Given the description of an element on the screen output the (x, y) to click on. 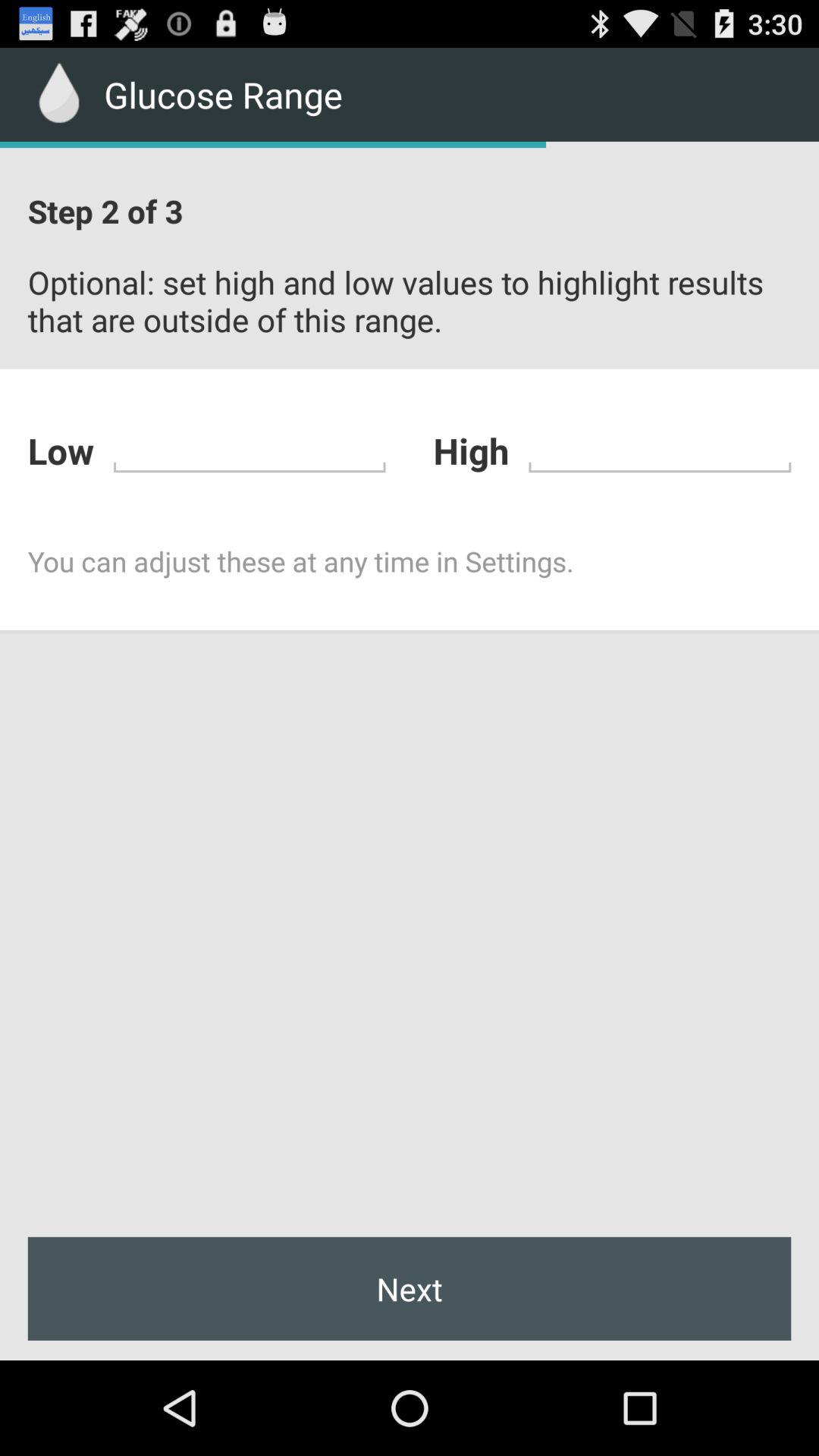
input high amount (659, 448)
